Given the description of an element on the screen output the (x, y) to click on. 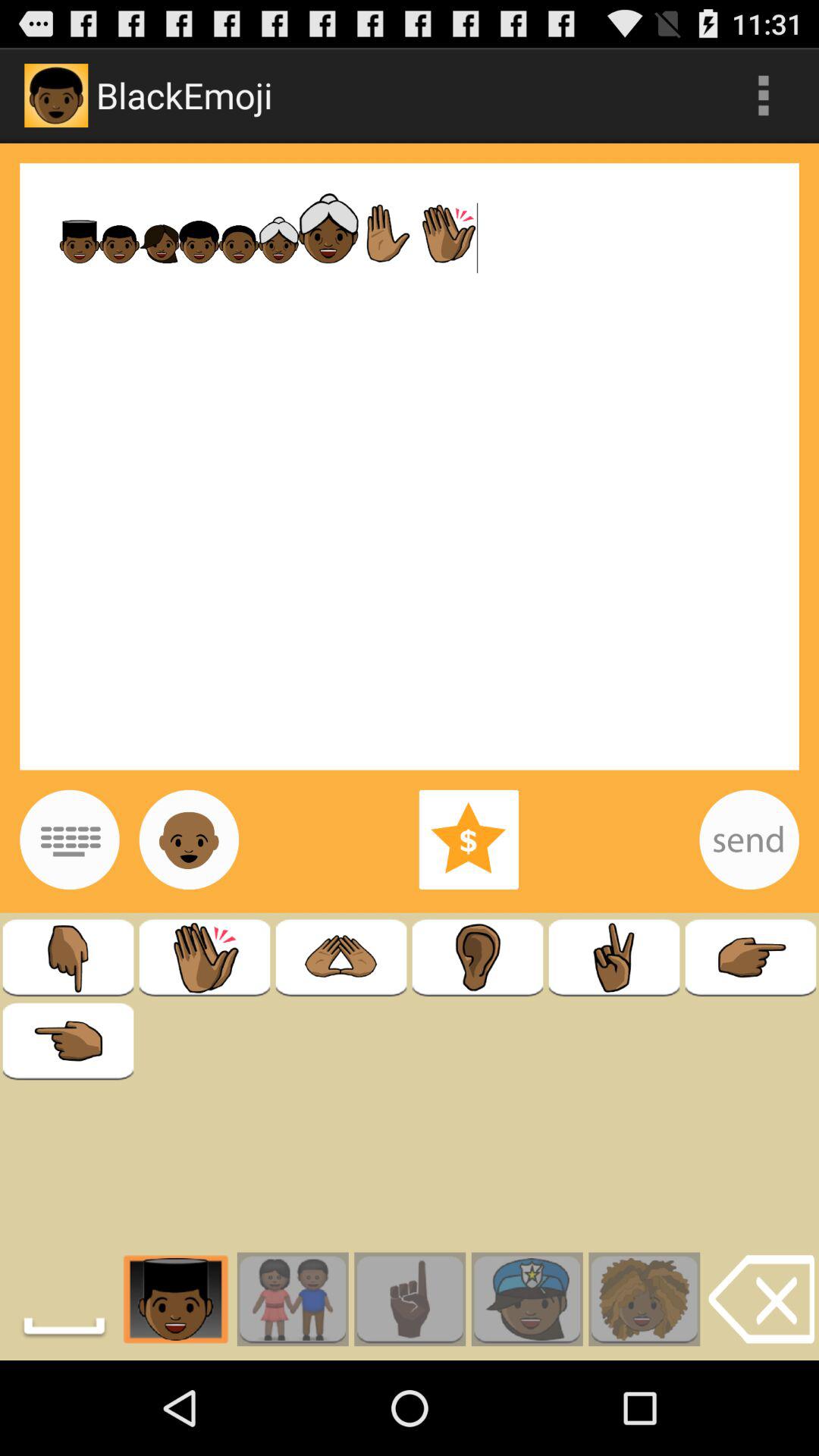
send (749, 839)
